Given the description of an element on the screen output the (x, y) to click on. 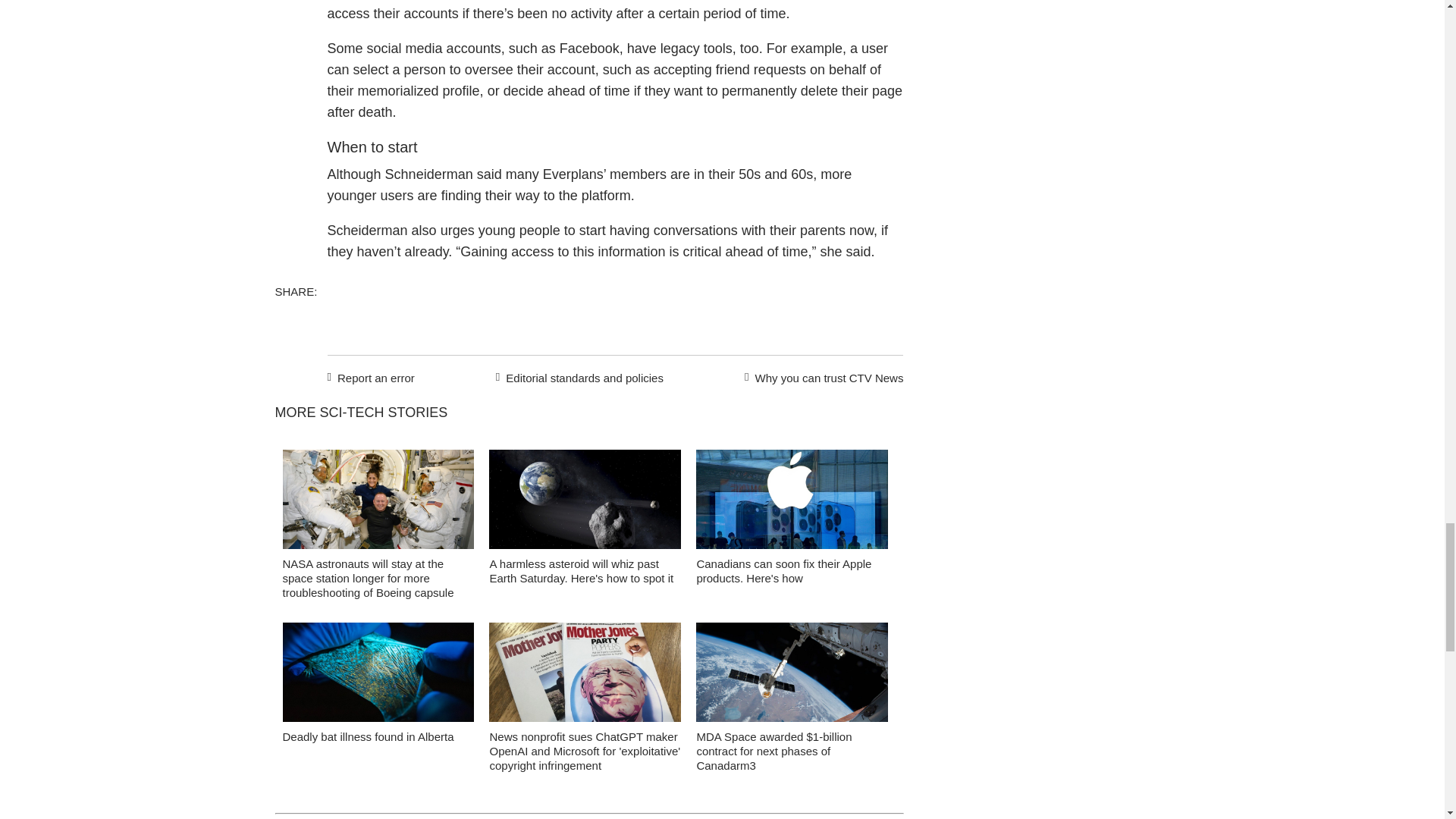
Editorial standards and policies (576, 375)
White-nose syndrome found in Alberta bats (378, 676)
Canadians can soon fix their Apple products. Here's how (782, 570)
Deadly bat illness found in Alberta (367, 736)
Report an error (370, 375)
Apple (791, 503)
Canadarm3 contract awarded (791, 676)
Boeing Crew Flight Test astronauts (378, 503)
Copies of Mother Jones (585, 676)
Asteroids and earth (585, 503)
Why you can trust CTV News (820, 375)
